Given the description of an element on the screen output the (x, y) to click on. 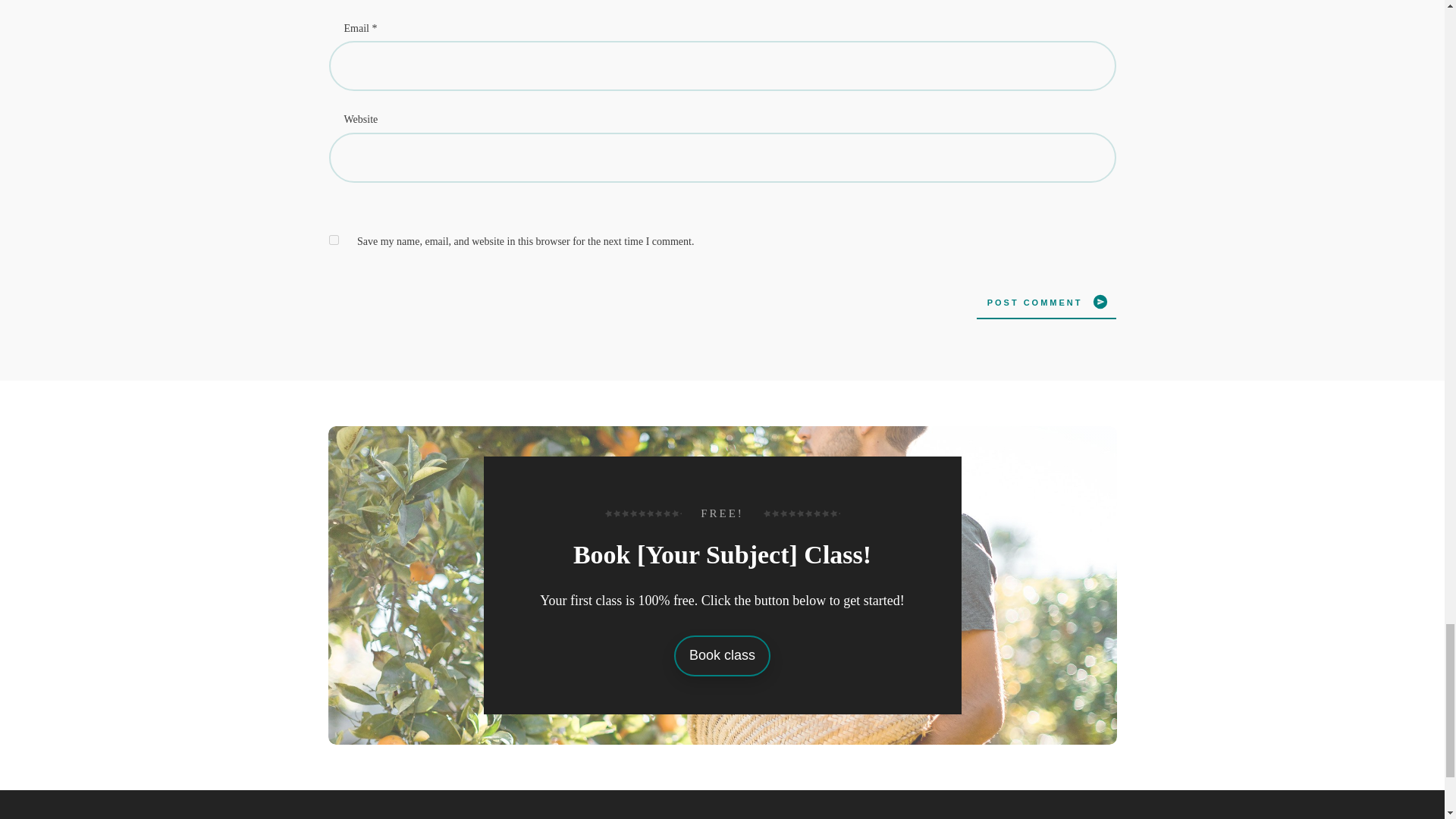
Book class (722, 655)
POST COMMENT (1046, 301)
yes (334, 239)
